Given the description of an element on the screen output the (x, y) to click on. 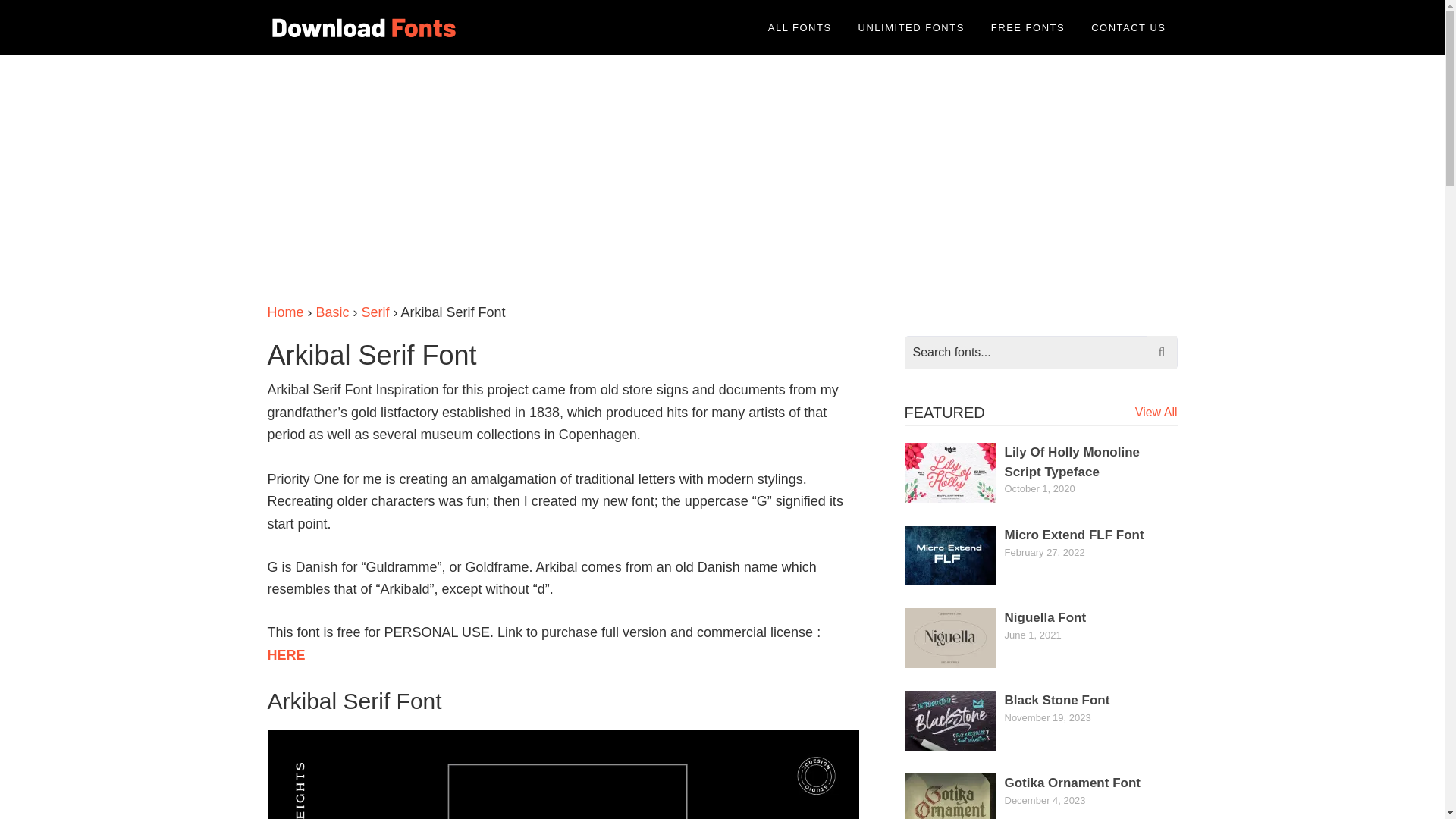
ALL FONTS (800, 27)
Home (284, 312)
Serif (375, 312)
HERE (285, 654)
FREE FONTS (1027, 27)
UNLIMITED FONTS (911, 27)
Basic (332, 312)
CONTACT US (1128, 27)
